Given the description of an element on the screen output the (x, y) to click on. 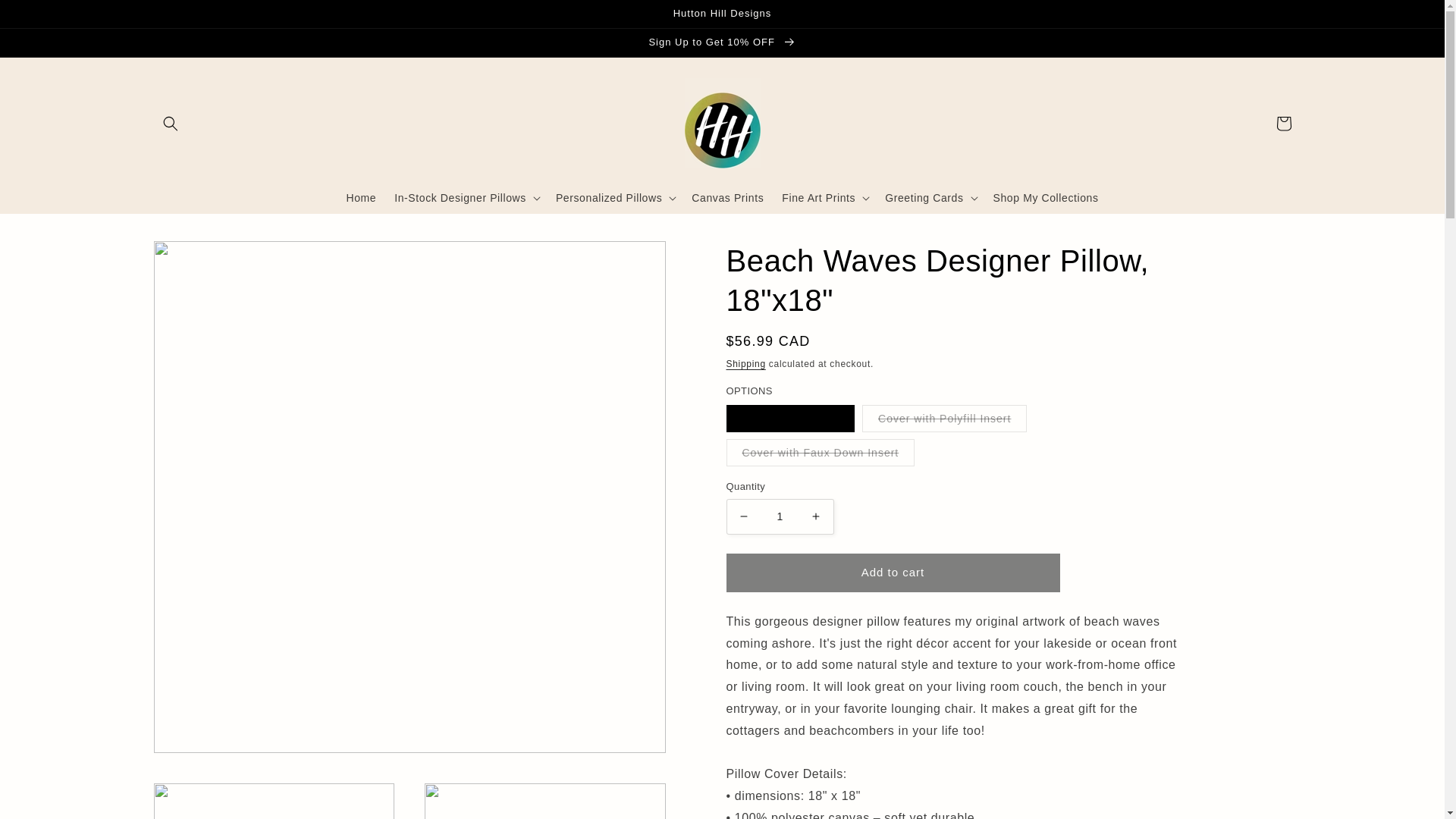
Home (360, 197)
Skip to content (47, 18)
1 (780, 516)
